Given the description of an element on the screen output the (x, y) to click on. 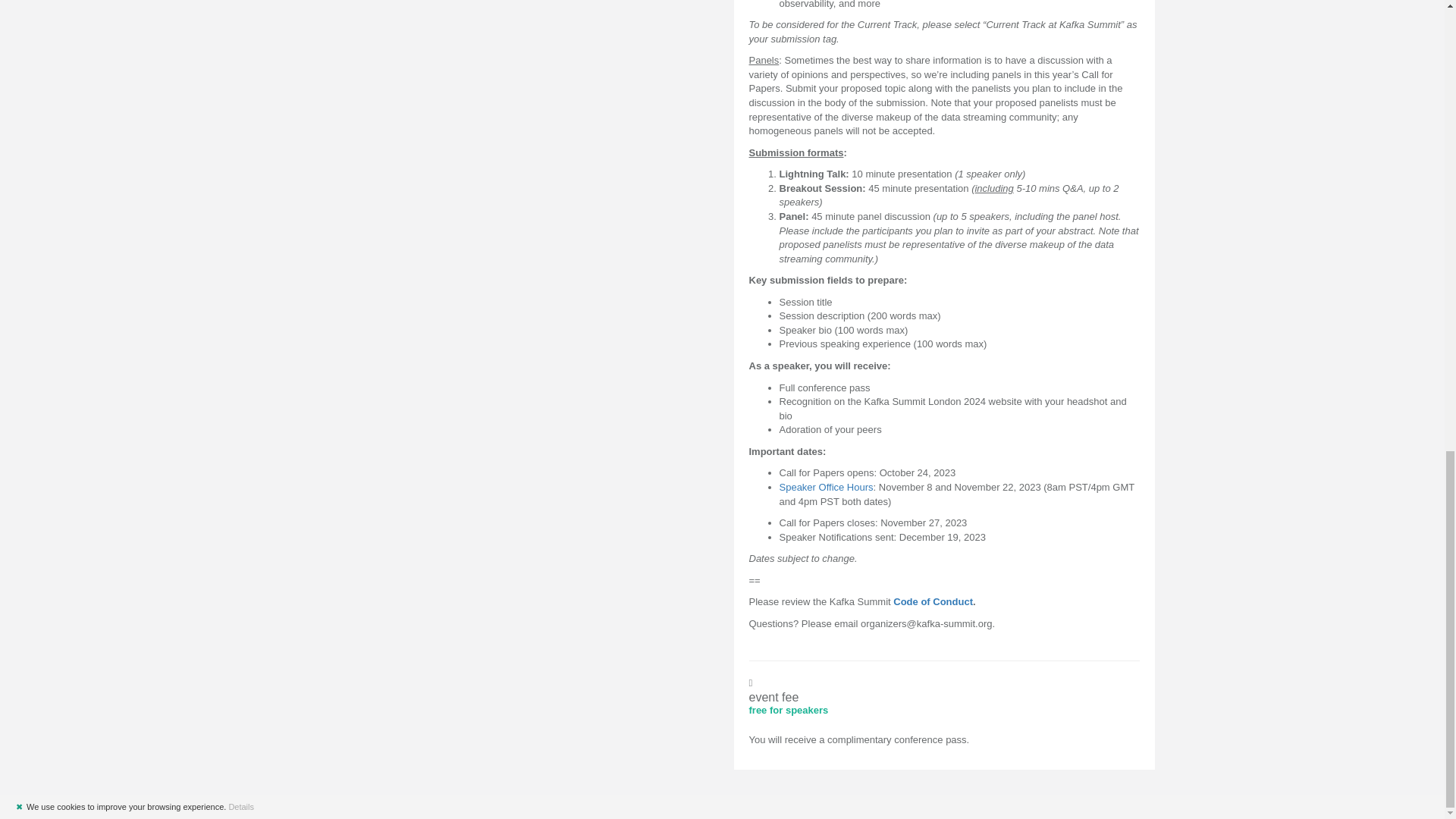
Code of Conduct (947, 601)
Speaker Office Hours (839, 487)
